Given the description of an element on the screen output the (x, y) to click on. 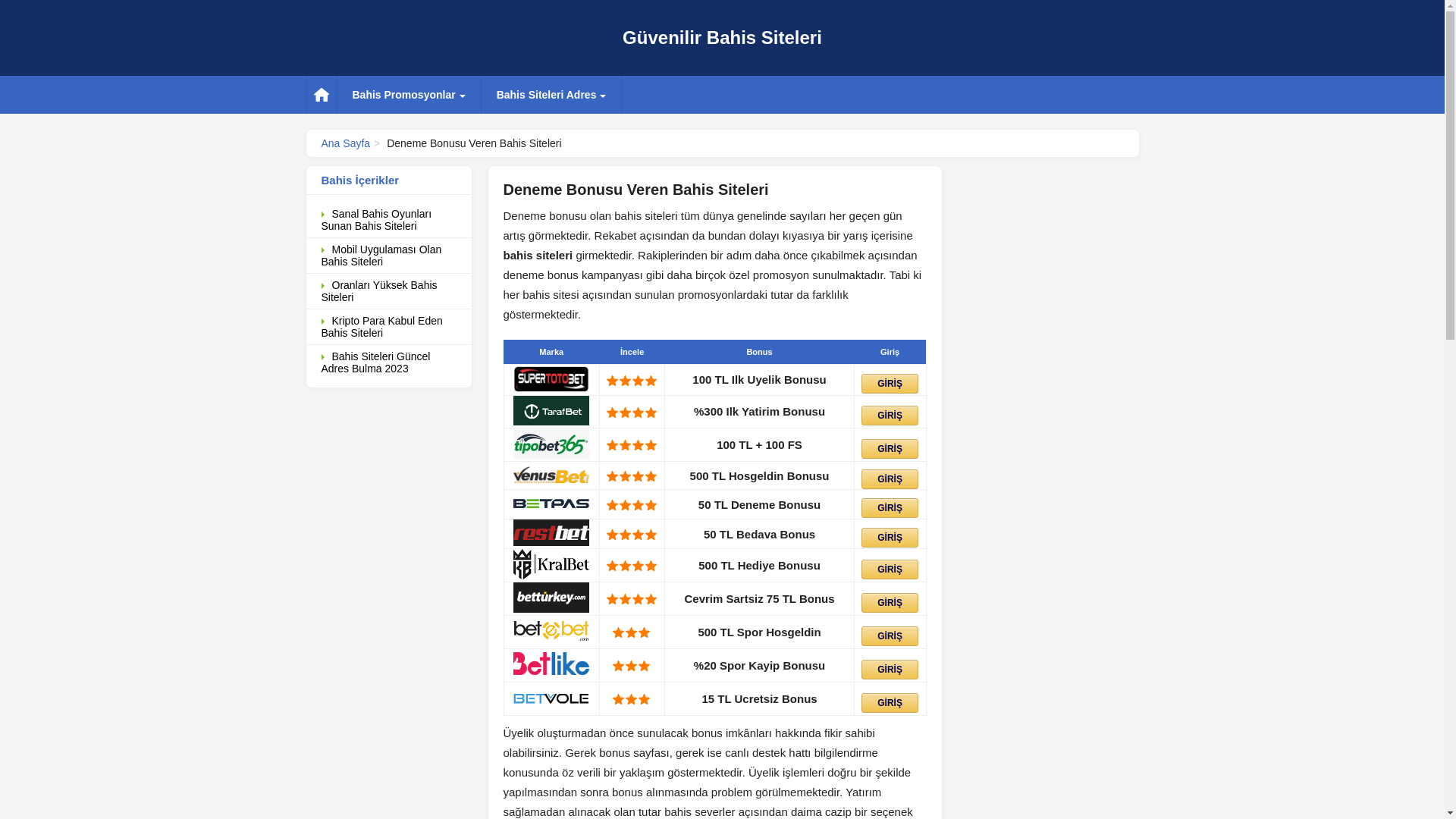
Bahis Siteleri Adres Element type: text (551, 94)
Kripto Para Kabul Eden Bahis Siteleri Element type: text (388, 327)
Ana Sayfa Element type: text (345, 143)
Bahis Promosyonlar Element type: text (408, 94)
